Given the description of an element on the screen output the (x, y) to click on. 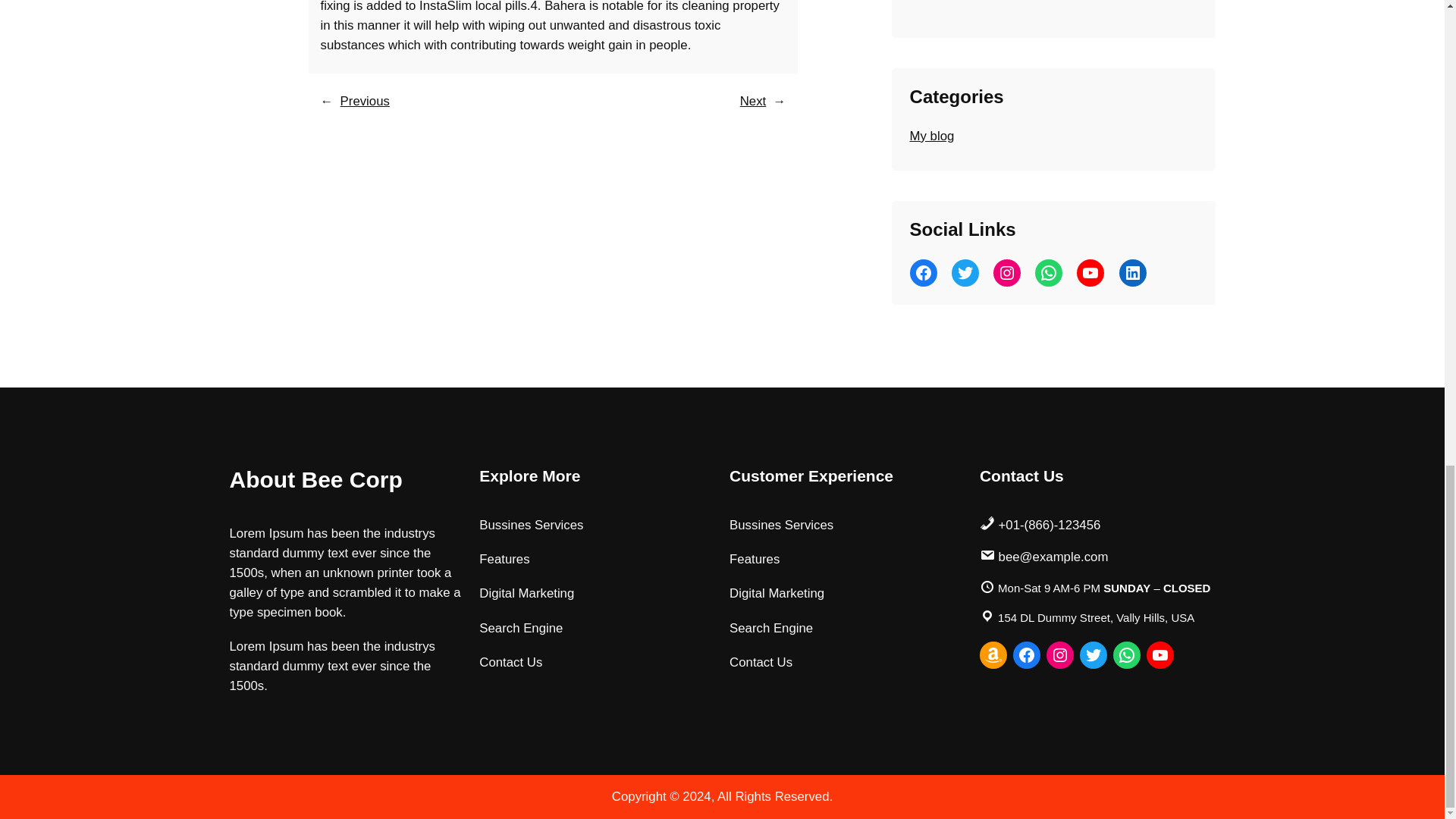
Search Engine (520, 628)
Bussines Services (780, 525)
My blog (932, 135)
Instagram (1006, 272)
Next (753, 101)
Features (504, 559)
Digital Marketing (526, 593)
Twitter (965, 272)
Previous (365, 101)
LinkedIn (1133, 272)
